Given the description of an element on the screen output the (x, y) to click on. 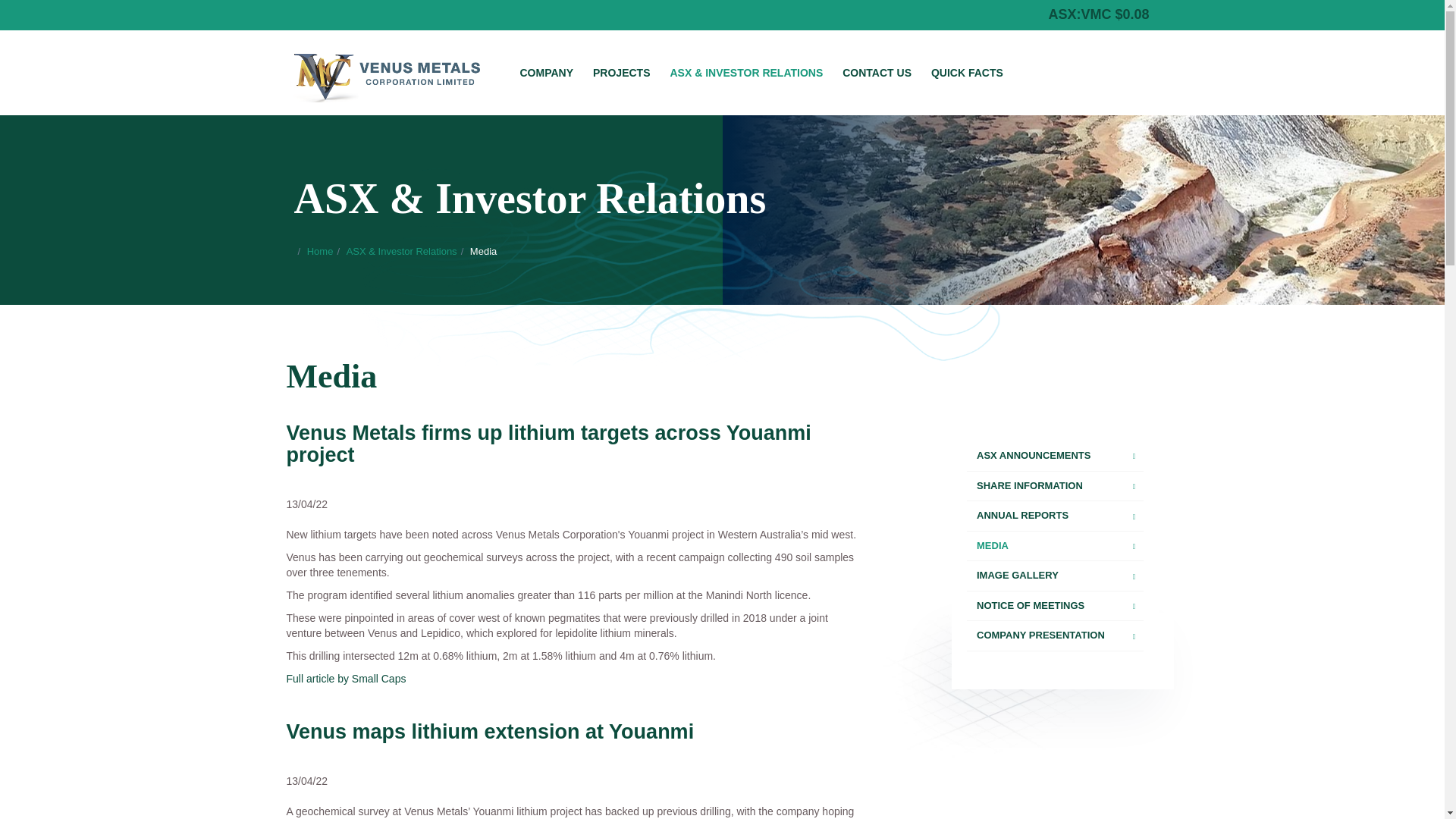
Venus Metals firms up lithium targets across Youanmi project (548, 443)
Marvel Loch project (1054, 576)
PROJECTS (621, 72)
ASX:VMC (1079, 14)
Home (320, 251)
Full article by Small Caps (346, 678)
CONTACT US (876, 72)
Venus maps lithium extension at Youanmi (490, 731)
QUICK FACTS (967, 72)
COMPANY (546, 72)
